Given the description of an element on the screen output the (x, y) to click on. 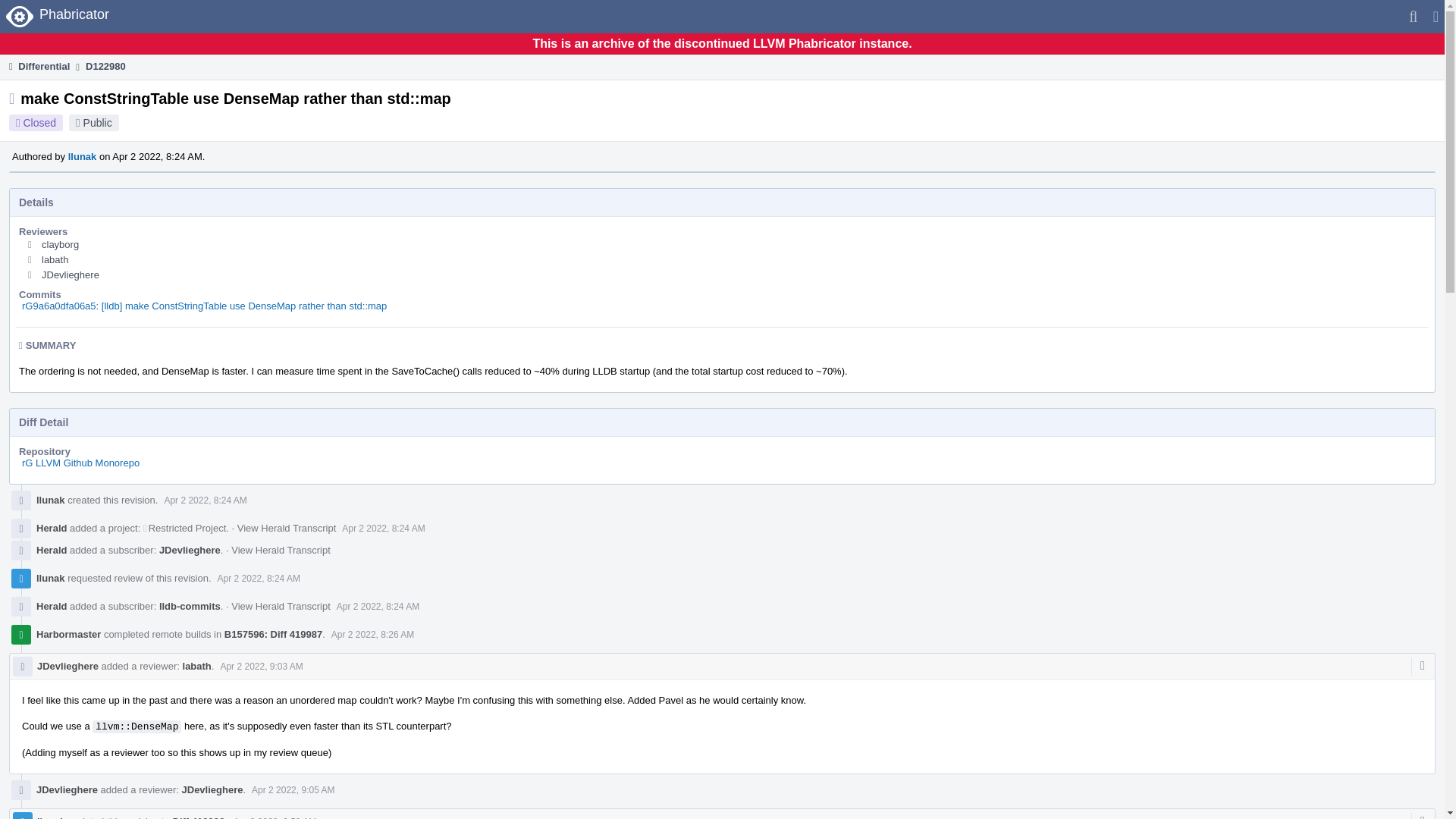
JDevlieghere (189, 550)
B157596: Diff 419987 (272, 633)
Differential (37, 65)
Harbormaster (68, 633)
clayborg (60, 244)
JDevlieghere (70, 274)
Apr 2 2022, 8:24 AM (204, 500)
View Herald Transcript (286, 527)
llunak (82, 156)
llunak (50, 577)
